Given the description of an element on the screen output the (x, y) to click on. 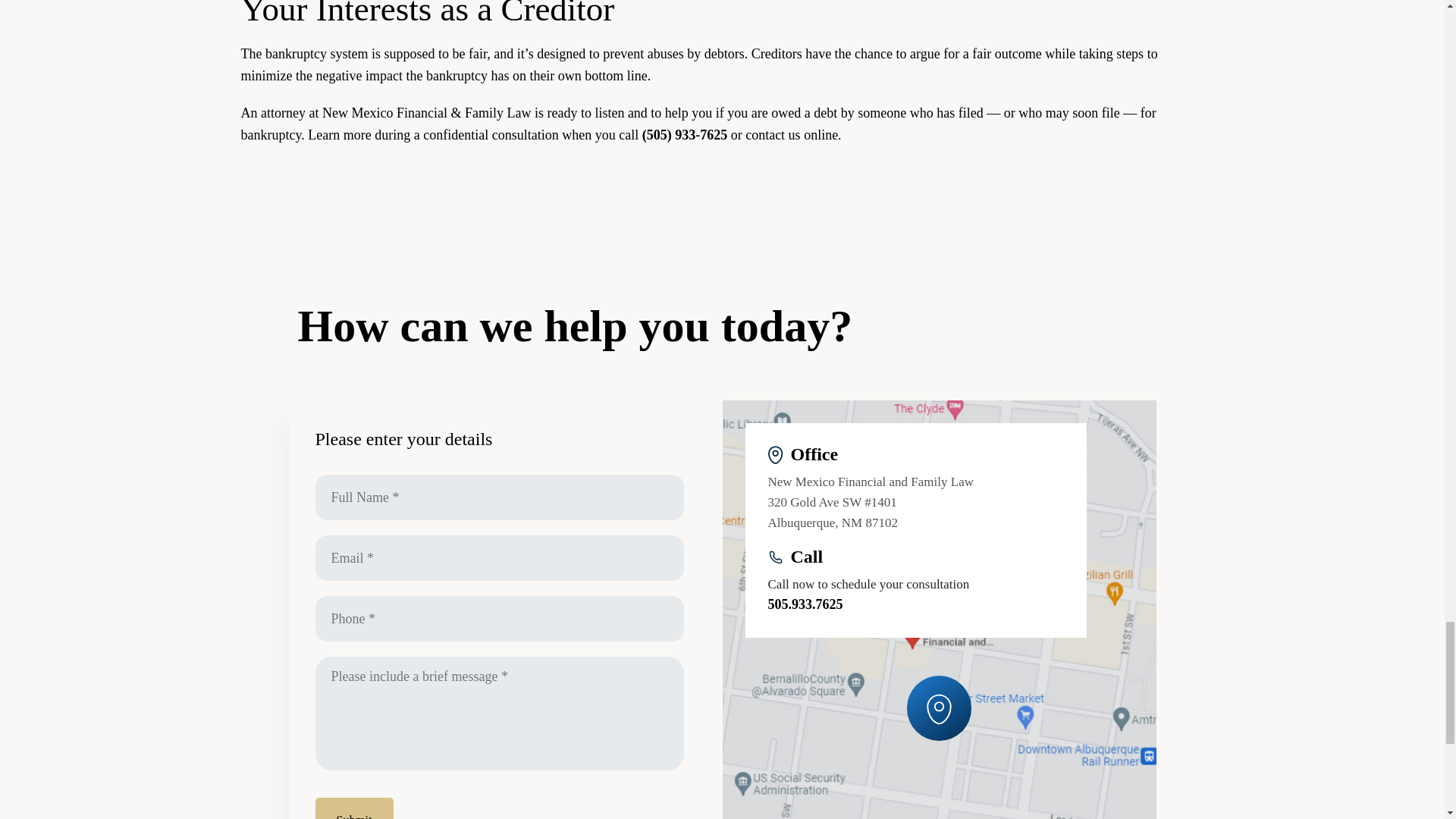
Submit (354, 808)
